Given the description of an element on the screen output the (x, y) to click on. 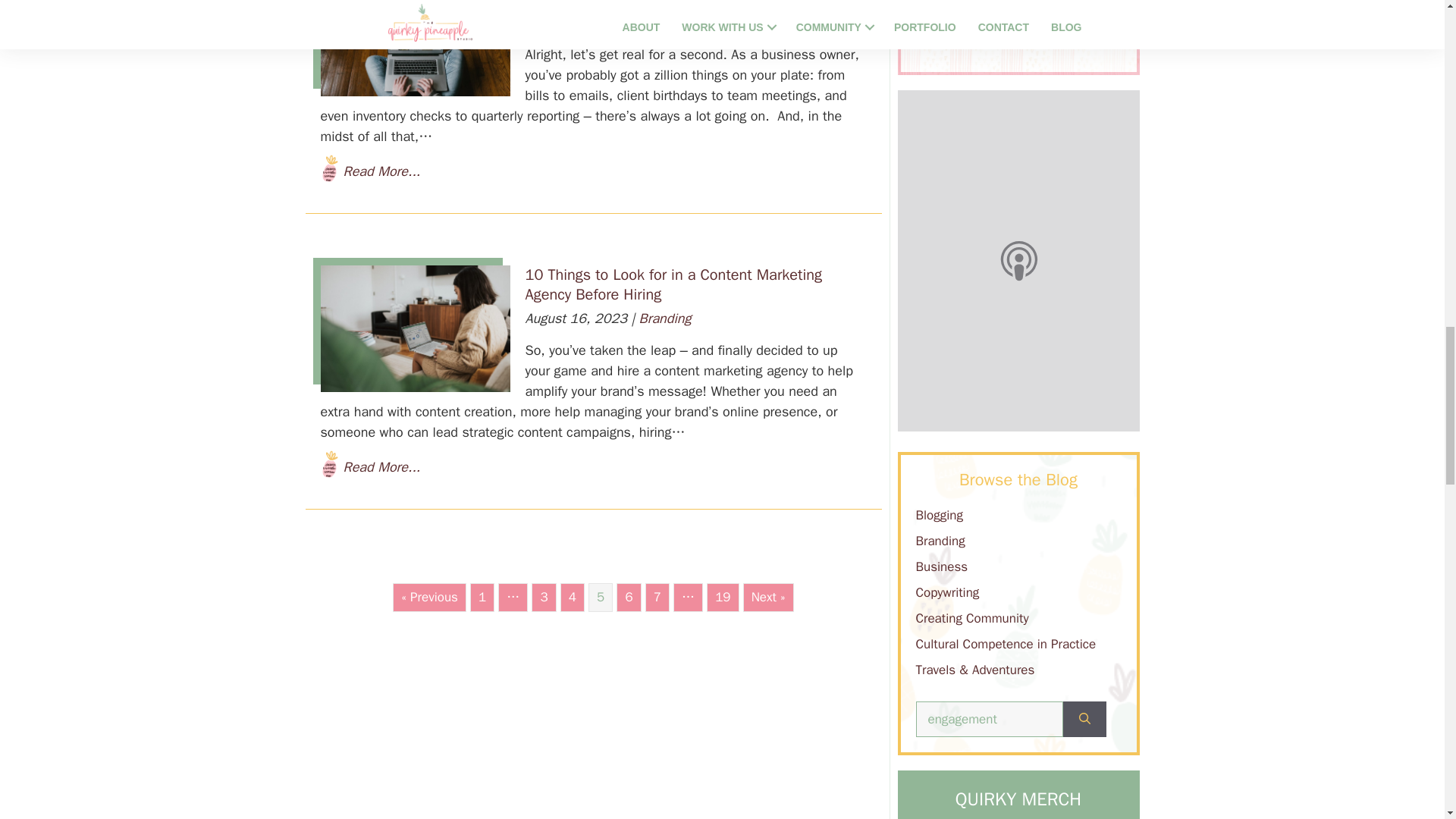
Read More... (381, 466)
engagement (988, 719)
Branding (664, 22)
Read More... (381, 170)
Read More... (381, 170)
Branding (664, 318)
engagement (988, 719)
